Given the description of an element on the screen output the (x, y) to click on. 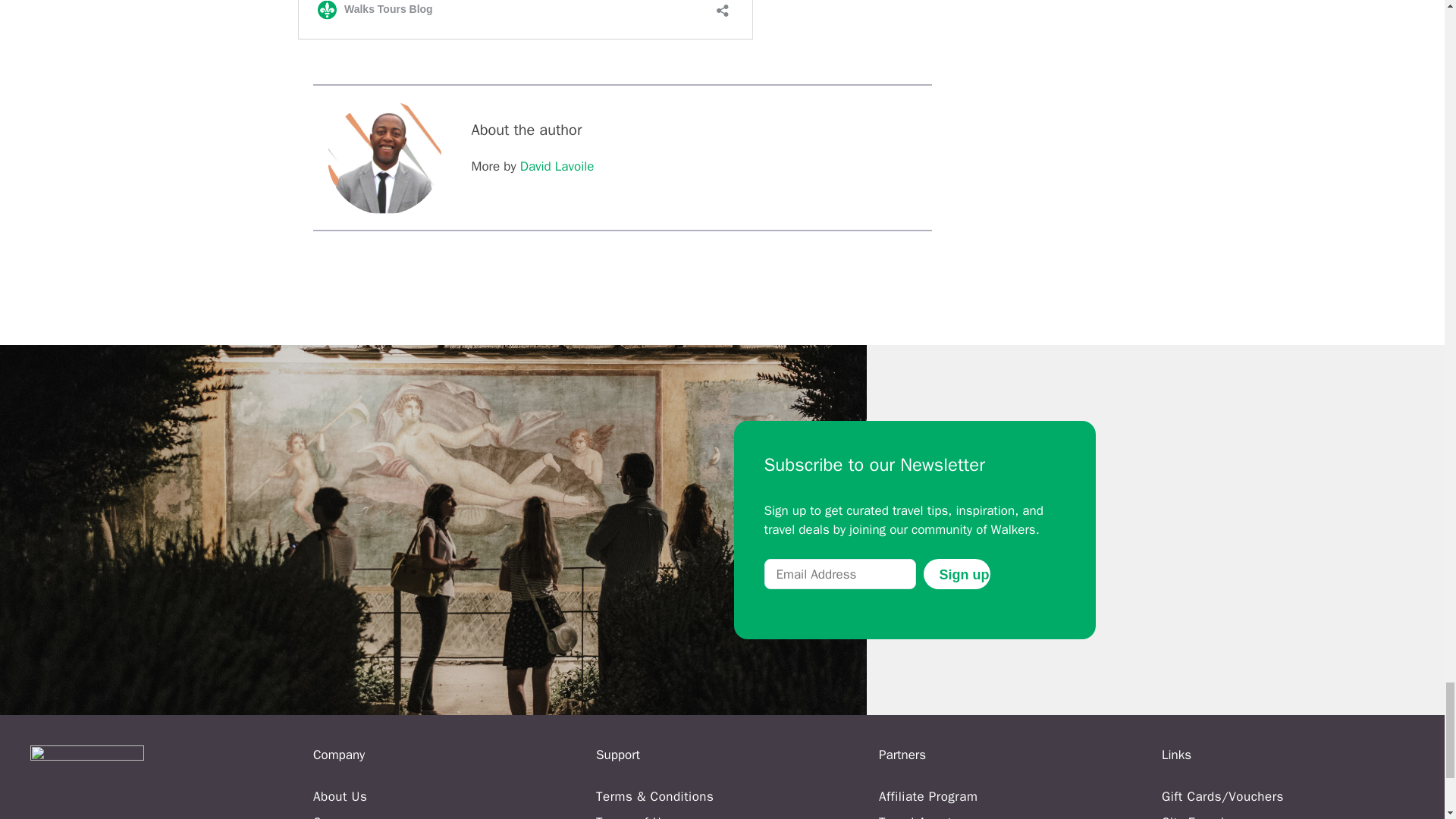
Sign up (956, 573)
